Given the description of an element on the screen output the (x, y) to click on. 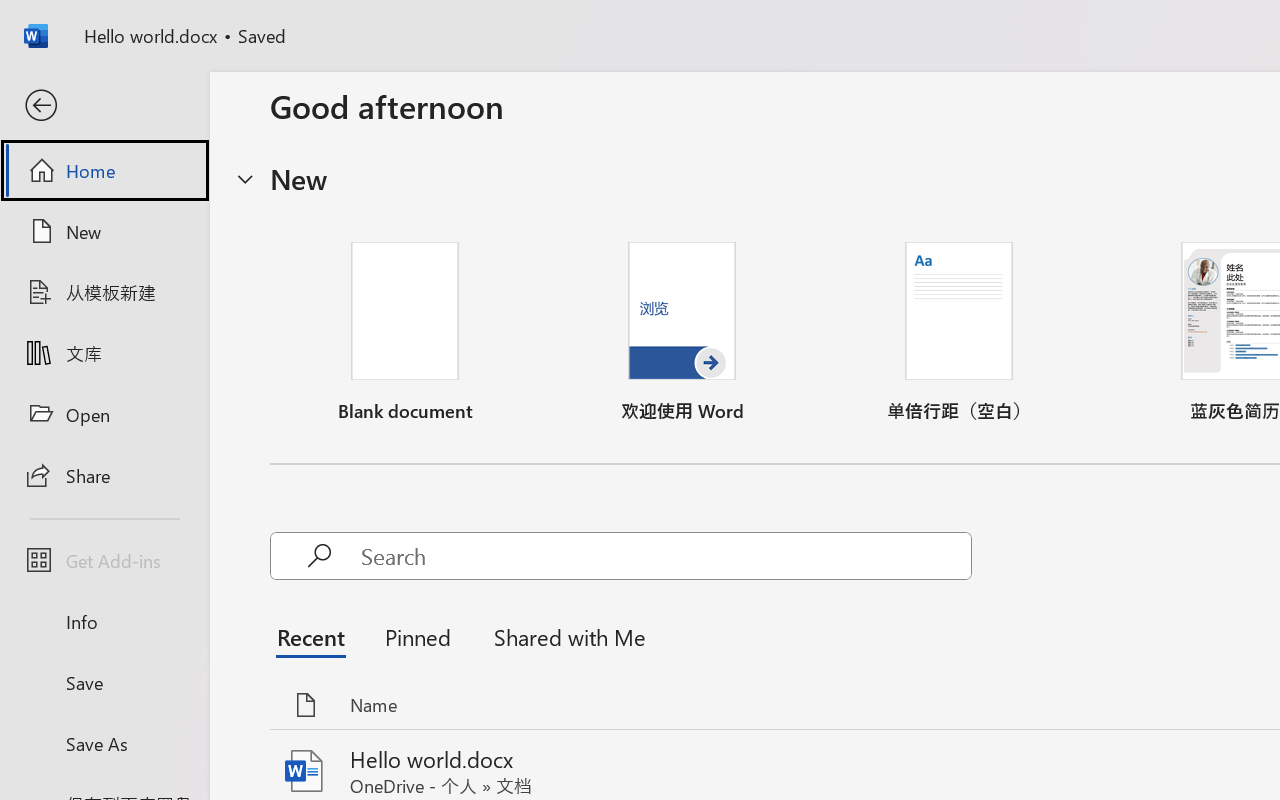
Share (104, 474)
Get Add-ins (104, 560)
Recent (316, 636)
Blank document (405, 332)
Home (104, 170)
Back (104, 106)
Save As (104, 743)
Open (104, 414)
Hide or show region (245, 178)
